Given the description of an element on the screen output the (x, y) to click on. 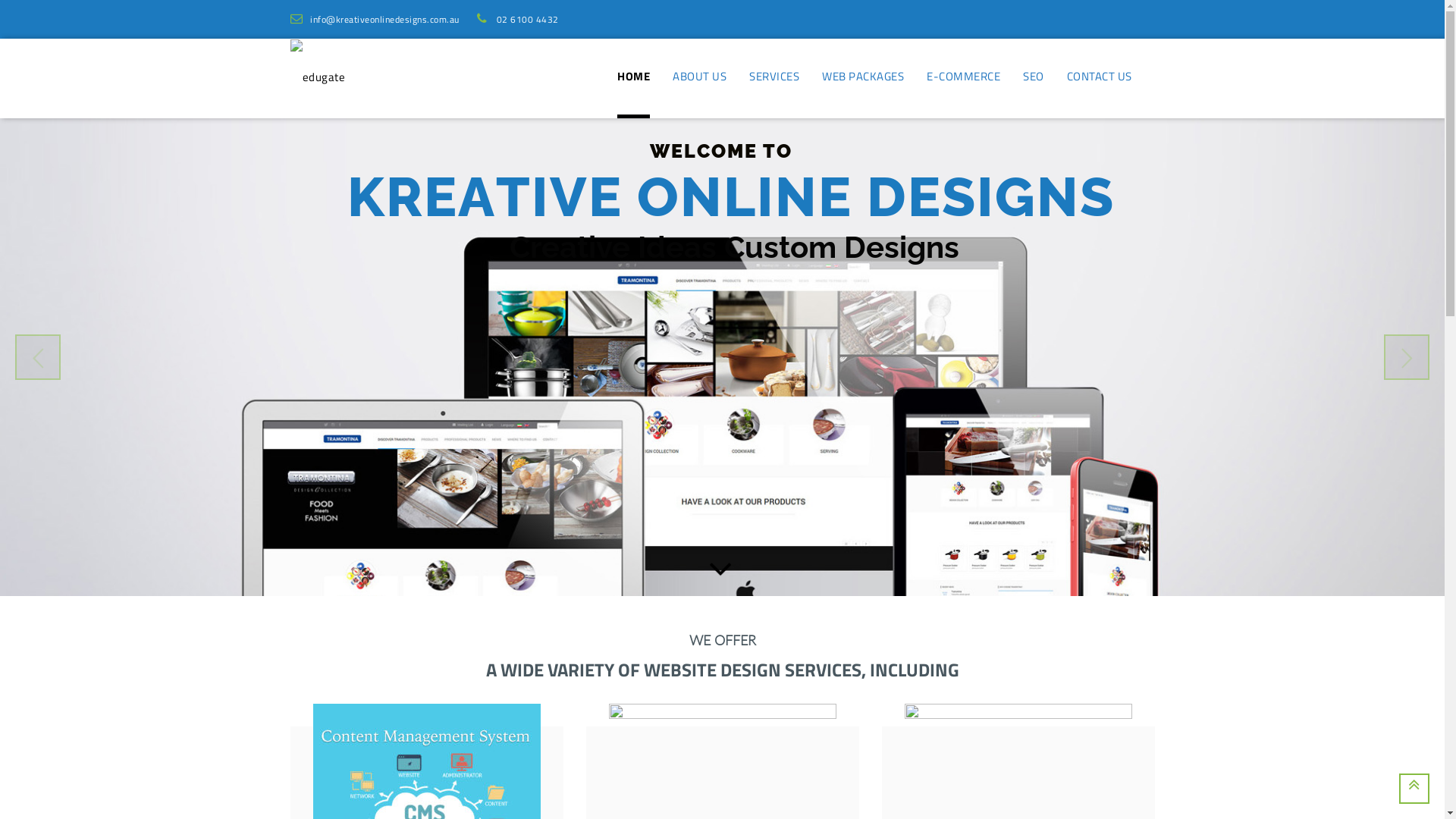
SERVICES Element type: text (774, 78)
CONTACT US Element type: text (1098, 78)
HOME Element type: text (633, 78)
WEB PACKAGES Element type: text (862, 78)
SEO Element type: text (1033, 78)
ABOUT US Element type: text (699, 78)
E-COMMERCE Element type: text (963, 78)
info@kreativeonlinedesigns.com.au Element type: text (373, 19)
